Given the description of an element on the screen output the (x, y) to click on. 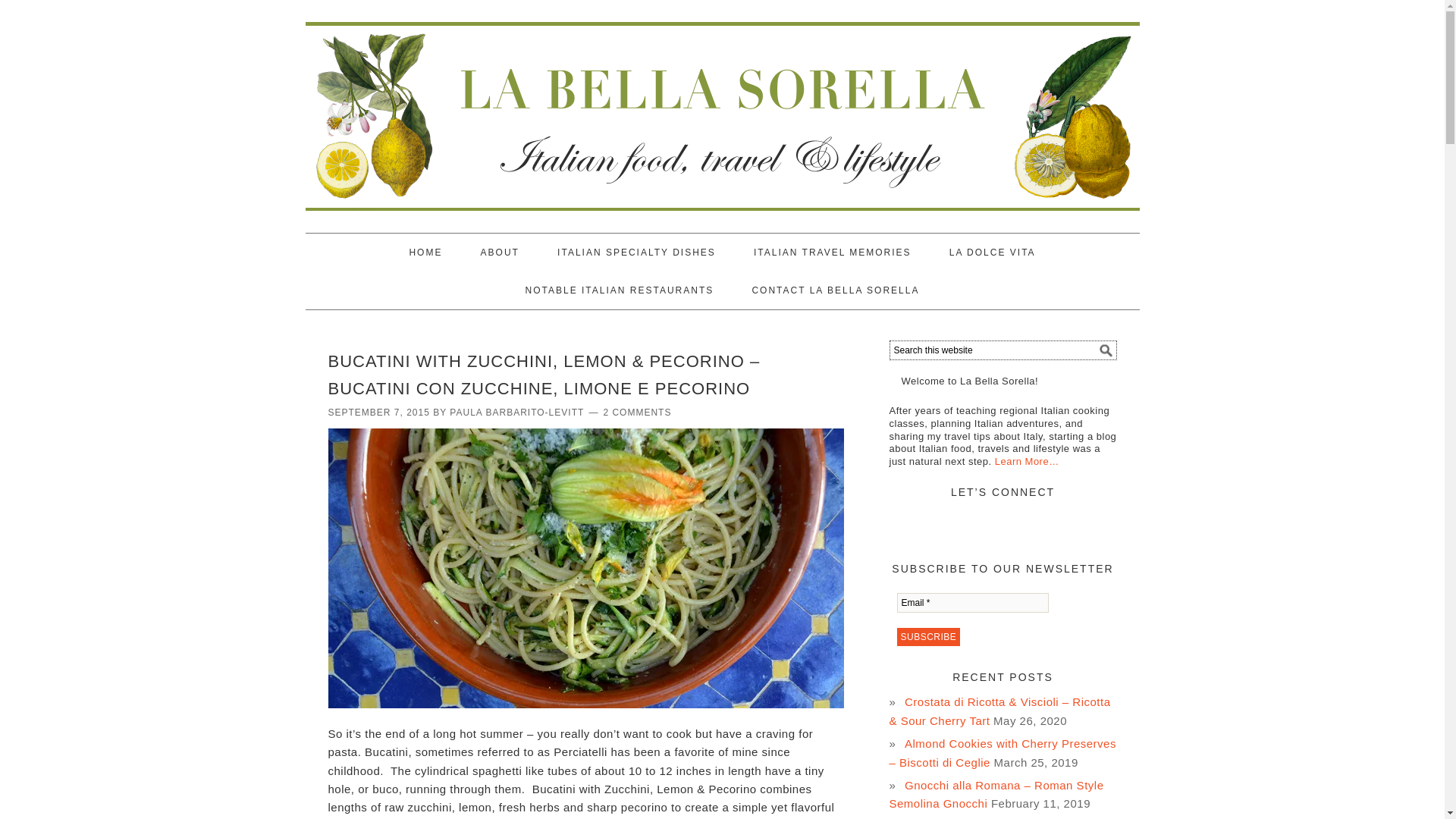
2 COMMENTS (636, 412)
NOTABLE ITALIAN RESTAURANTS (619, 290)
ITALIAN SPECIALTY DISHES (636, 252)
CONTACT LA BELLA SORELLA (835, 290)
ABOUT (499, 252)
PAULA BARBARITO-LEVITT (516, 412)
Subscribe (927, 637)
LA DOLCE VITA (992, 252)
HOME (424, 252)
Email (972, 602)
ITALIAN TRAVEL MEMORIES (832, 252)
